Given the description of an element on the screen output the (x, y) to click on. 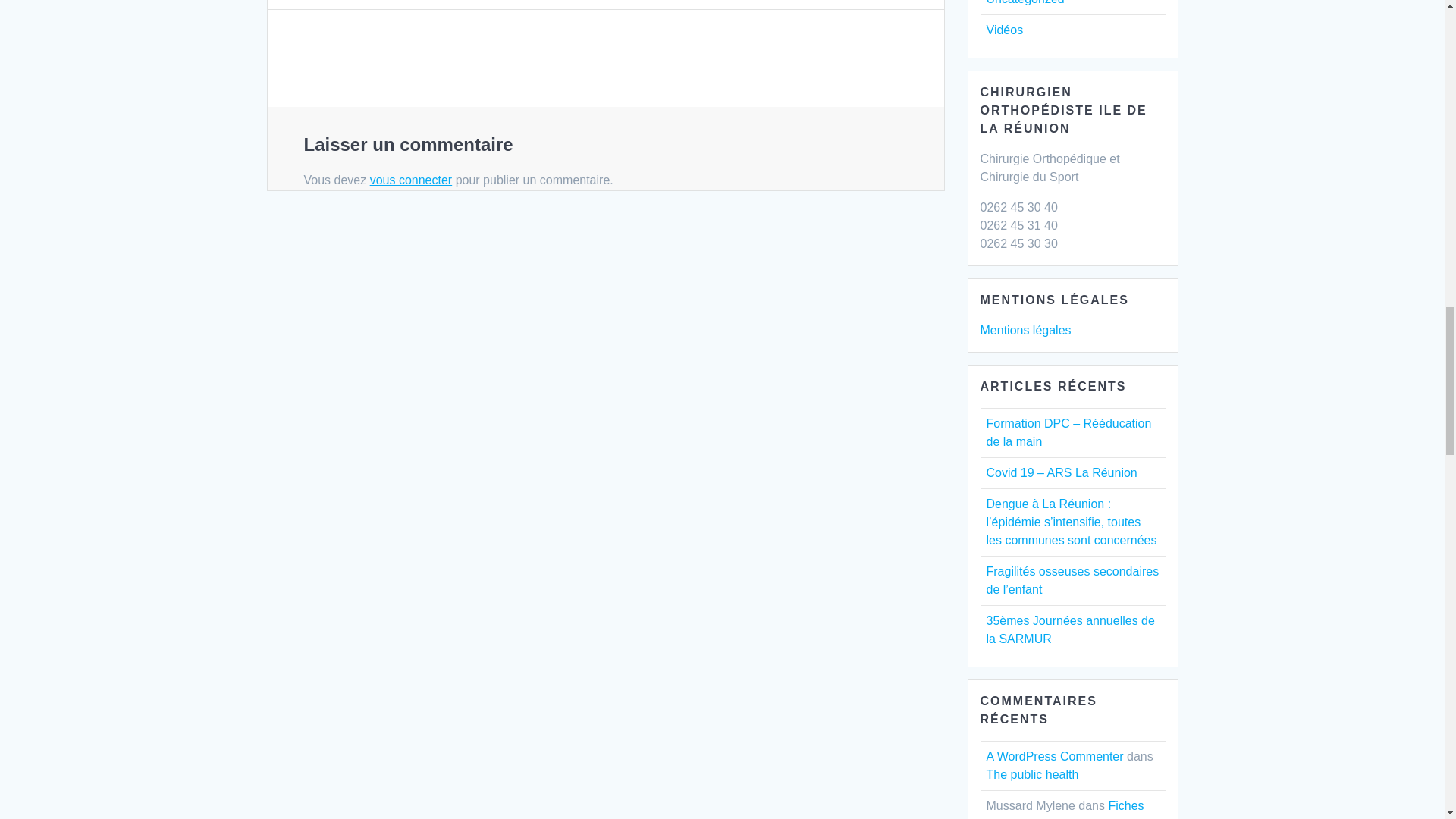
vous connecter (410, 179)
